Given the description of an element on the screen output the (x, y) to click on. 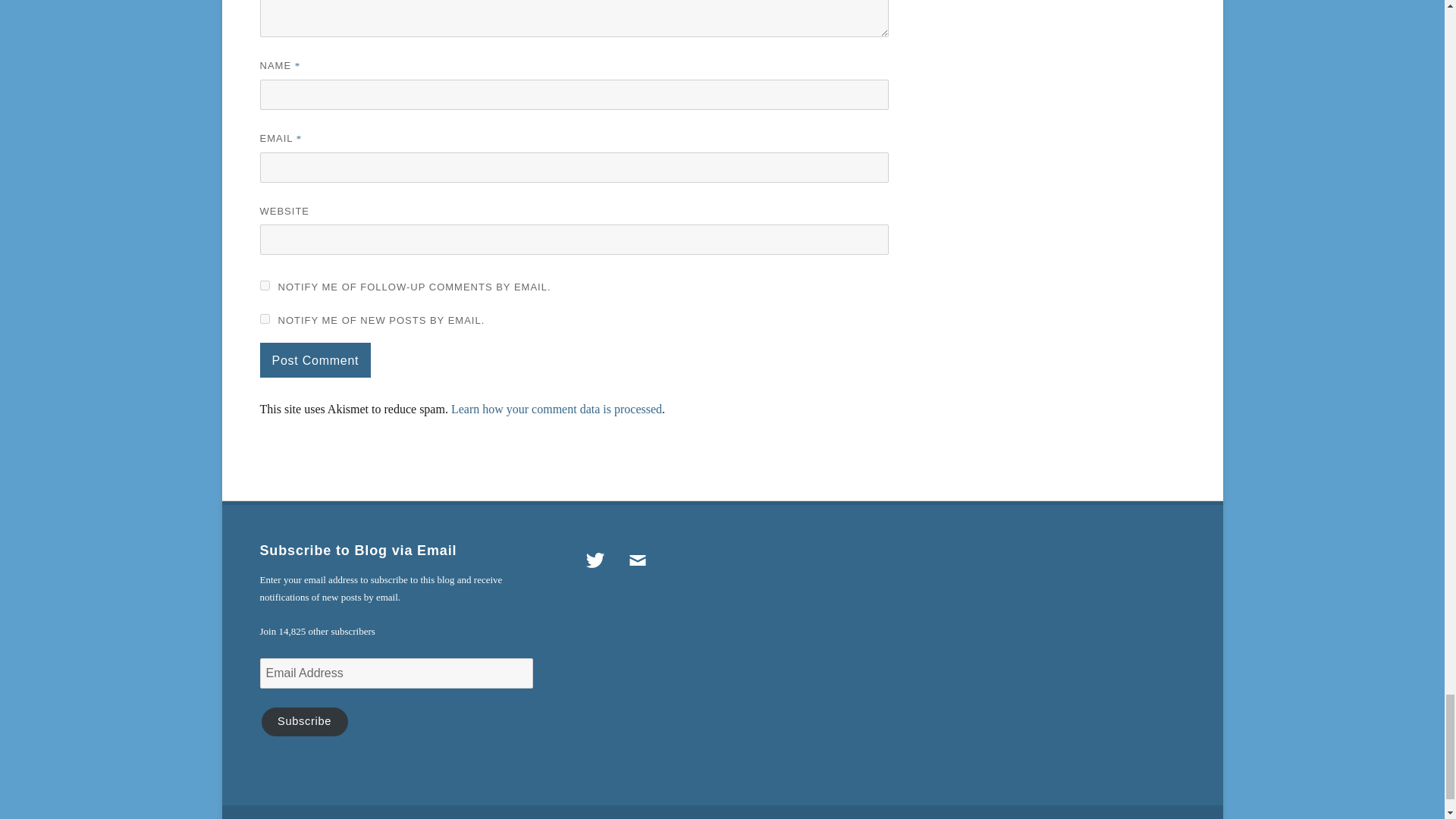
Email (637, 560)
Twitter (595, 560)
subscribe (264, 285)
Post Comment (315, 360)
subscribe (264, 318)
